Given the description of an element on the screen output the (x, y) to click on. 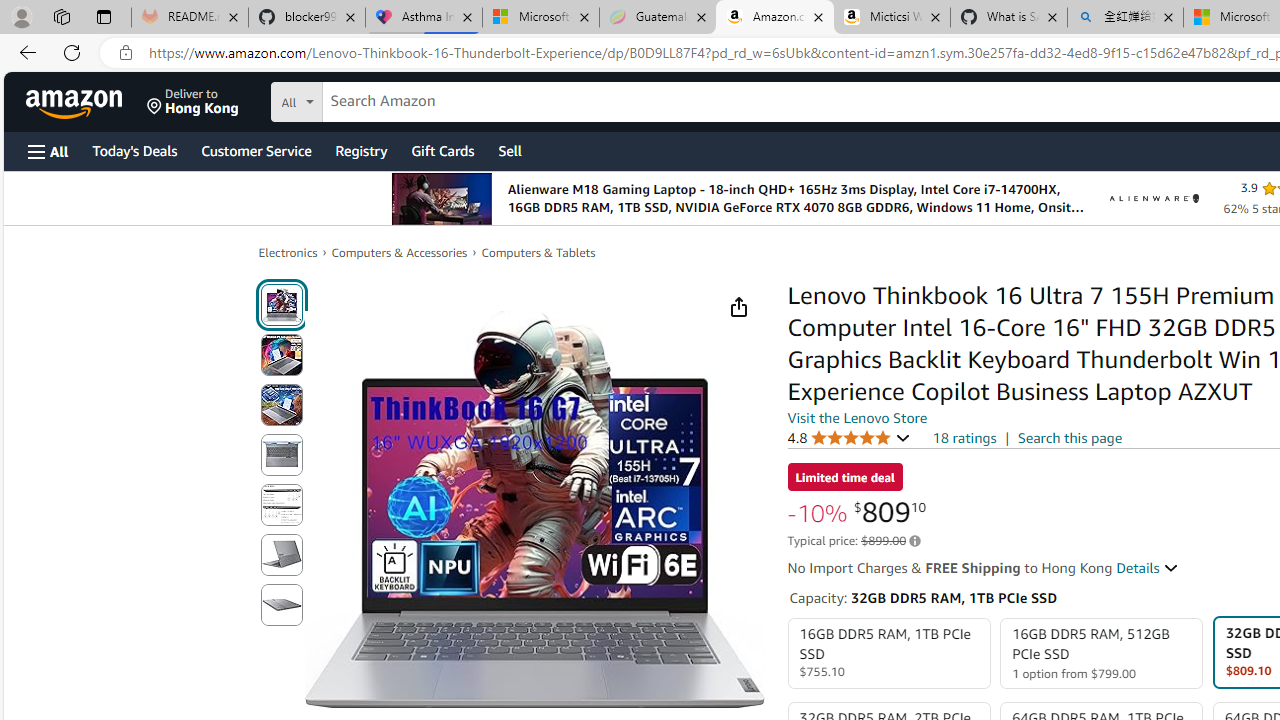
16GB DDR5 RAM, 512GB PCIe SSD 1 option from $799.00 (1101, 653)
Computers & Accessories (399, 251)
Open Menu (48, 151)
Microsoft-Report a Concern to Bing (540, 17)
Logo (1153, 198)
Computers & Tablets (538, 252)
18 ratings (964, 438)
Today's Deals (134, 150)
Computers & Tablets (538, 251)
